Given the description of an element on the screen output the (x, y) to click on. 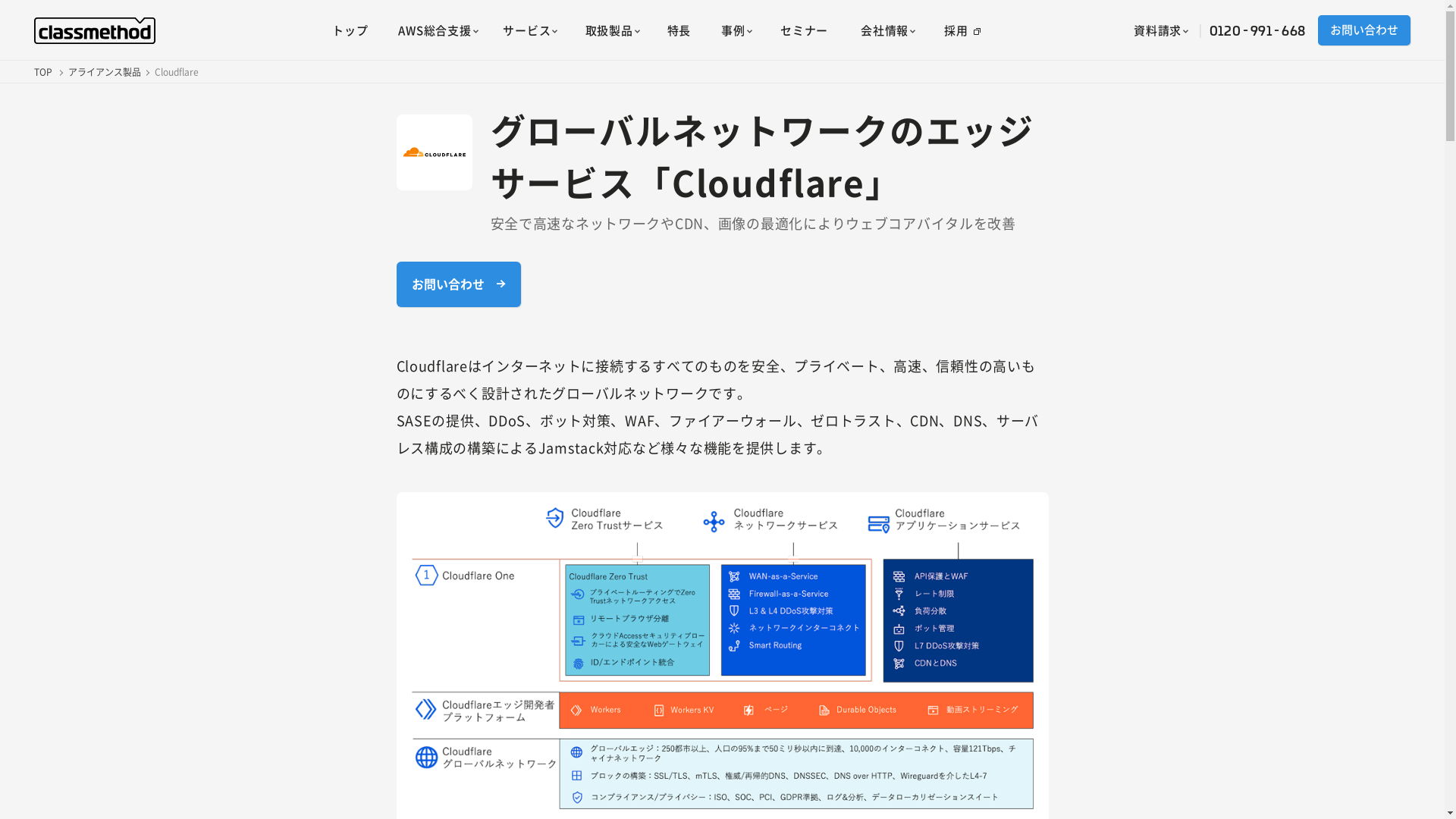
0120
-
991
-
668 Element type: text (1257, 29)
TOP Element type: text (43, 71)
